Given the description of an element on the screen output the (x, y) to click on. 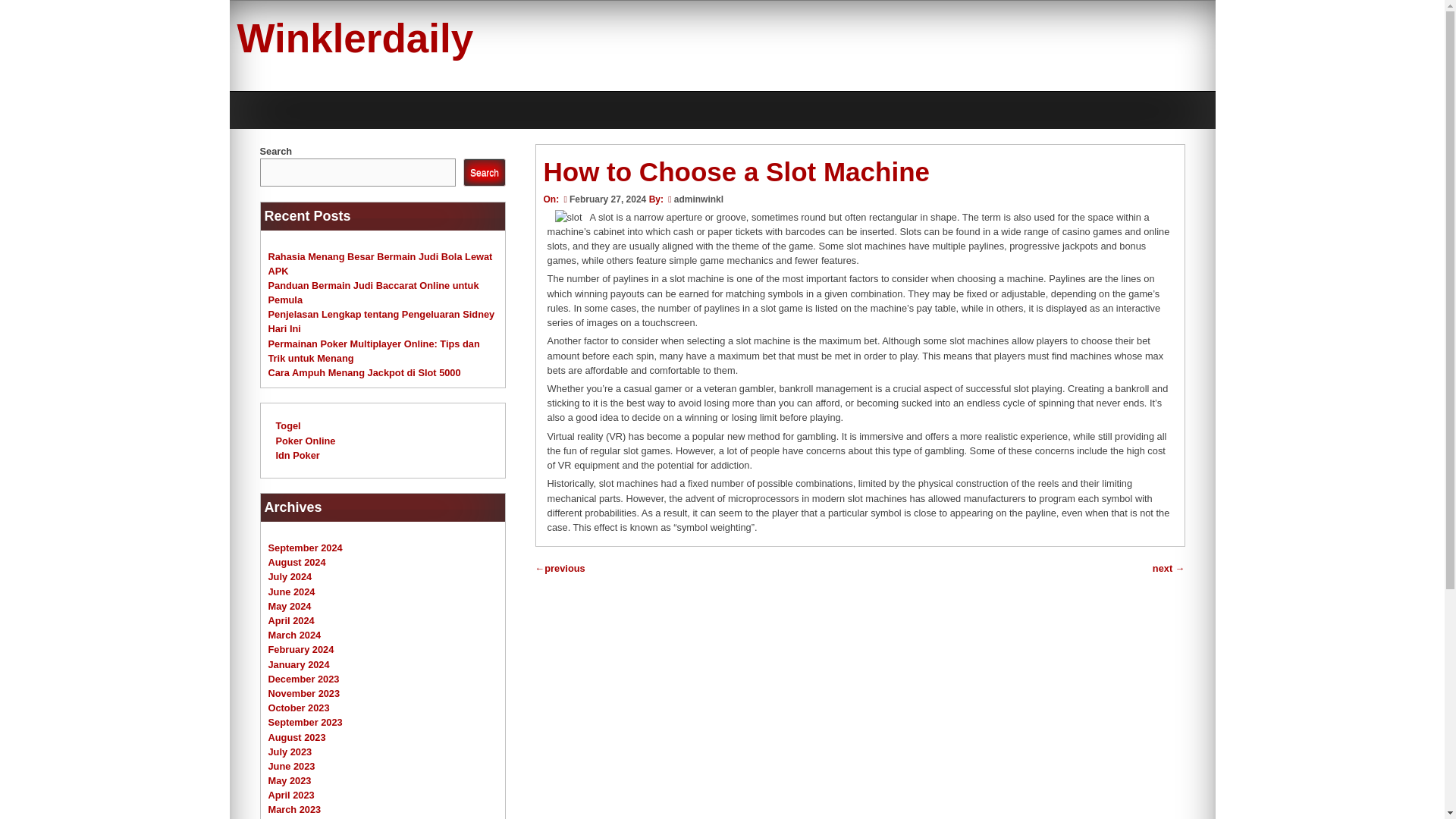
Winklerdaily (354, 37)
September 2023 (304, 722)
Search (484, 172)
October 2023 (298, 707)
June 2023 (291, 766)
Togel (288, 425)
November 2023 (303, 693)
August 2023 (296, 736)
April 2024 (290, 620)
